Given the description of an element on the screen output the (x, y) to click on. 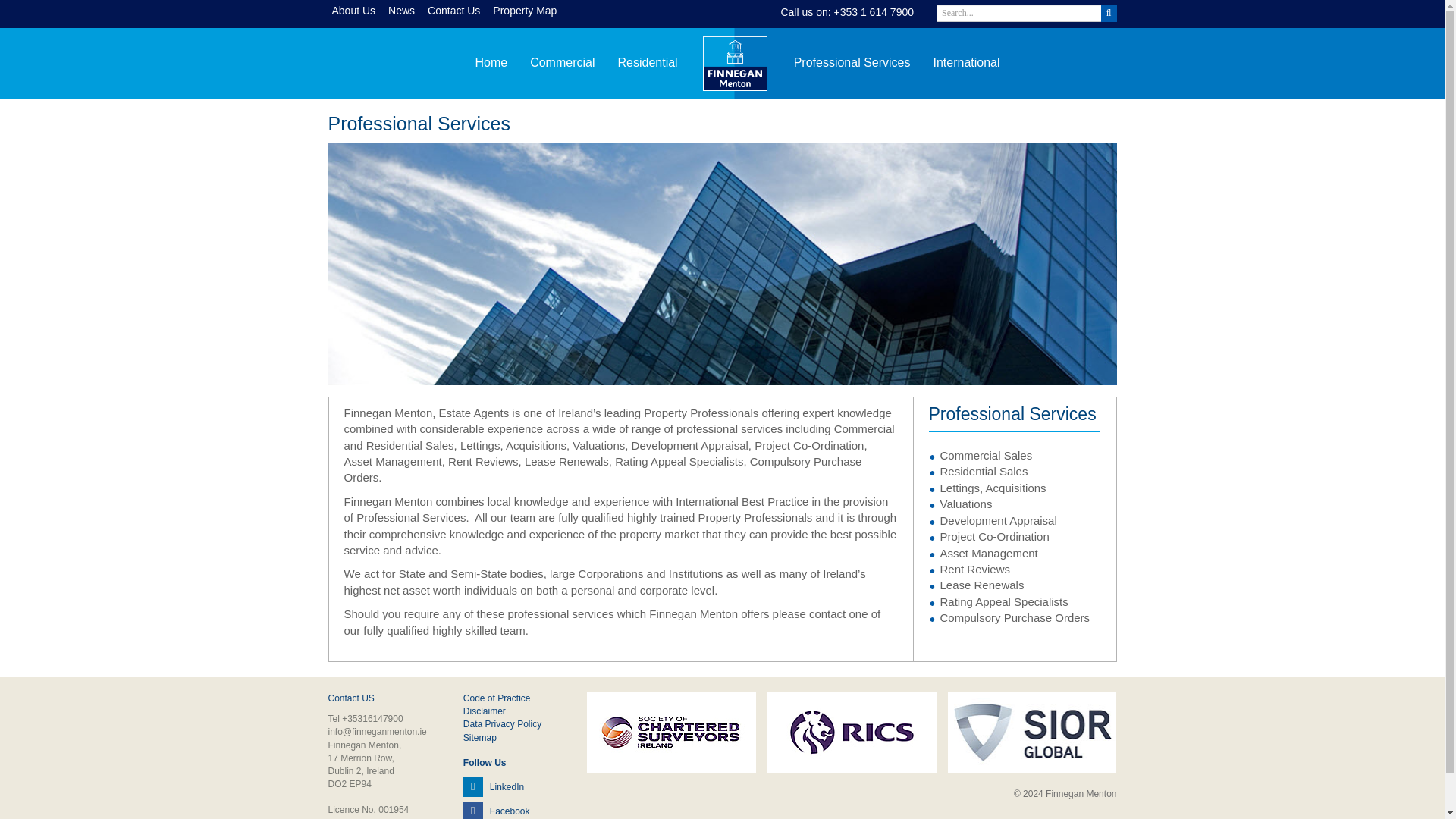
Data Privacy Policy (502, 724)
Residential (647, 62)
About Us (356, 10)
LinkedIn (493, 786)
Sitemap (479, 737)
Facebook (496, 810)
Professional Services (852, 62)
Property Map (527, 10)
Disclaimer (484, 710)
Contact Us (456, 10)
Home (490, 62)
Commercial (561, 62)
International (965, 62)
News (404, 10)
Code of Practice (497, 697)
